Given the description of an element on the screen output the (x, y) to click on. 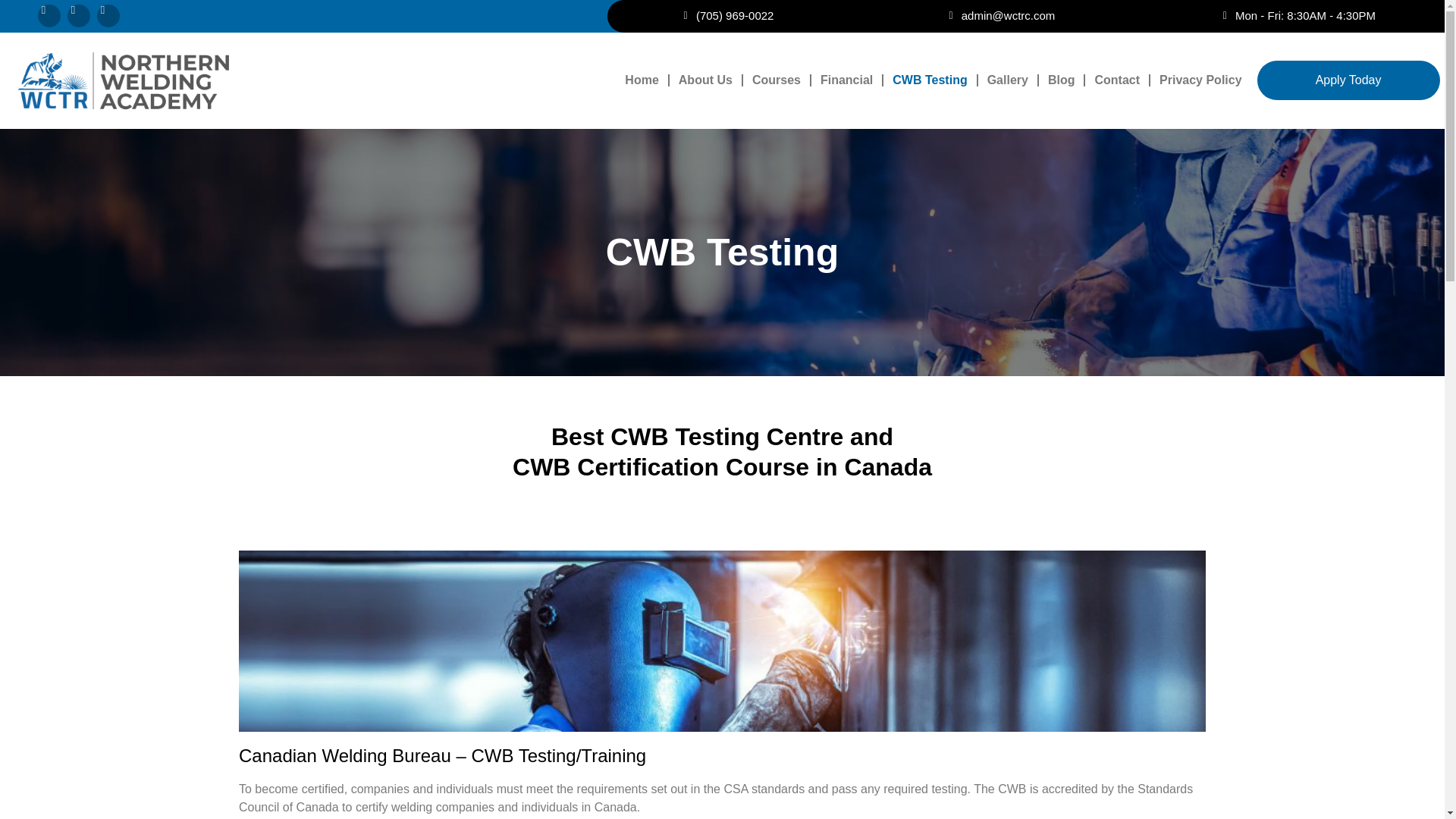
Apply Today (1348, 79)
Financial (846, 80)
Gallery (1007, 80)
Home (641, 80)
Courses (776, 80)
CWB Testing (929, 80)
Privacy Policy (1200, 80)
Blog (1062, 80)
Contact (1116, 80)
About Us (705, 80)
